Given the description of an element on the screen output the (x, y) to click on. 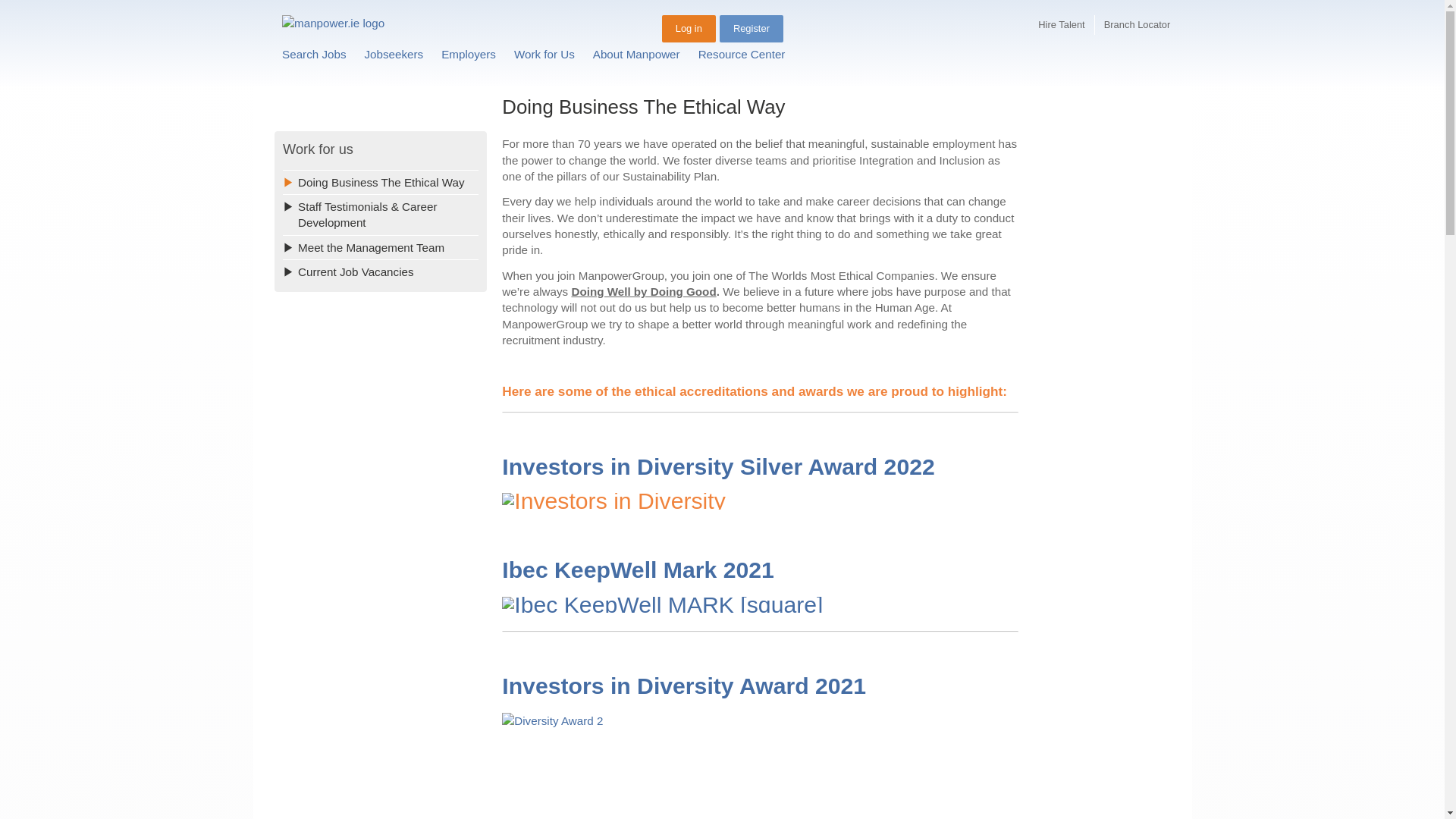
Employers (468, 53)
Resource Center (742, 53)
Log in (689, 28)
Hire Talent (1061, 25)
Current Job Vacancies (380, 271)
Register (751, 28)
Branch Locator (1136, 25)
Ibec KeepWell Mark 2021 (638, 569)
Meet the Management Team (380, 247)
Investors in Diversity Award 2021 (684, 685)
